Given the description of an element on the screen output the (x, y) to click on. 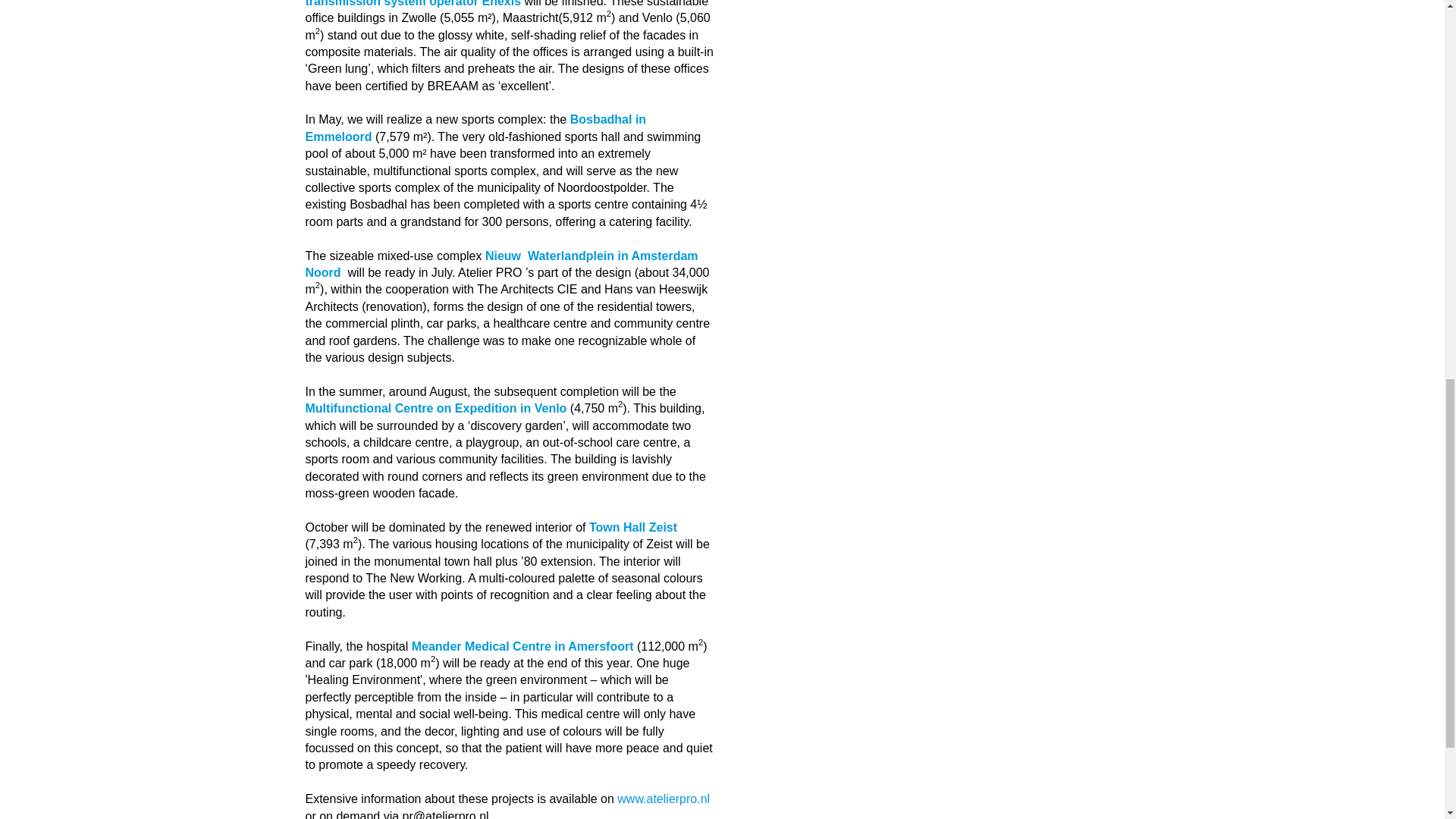
Multifunctional Centre on Expedition in Venlo (436, 408)
Town Hall Zeist (633, 526)
Meander Medical Centre in Amersfoort (522, 645)
www.atelierpro.nl (663, 798)
Nieuw  Waterlandplein in Amsterdam Noord (500, 264)
Bosbadhal in Emmeloord  (475, 127)
